Given the description of an element on the screen output the (x, y) to click on. 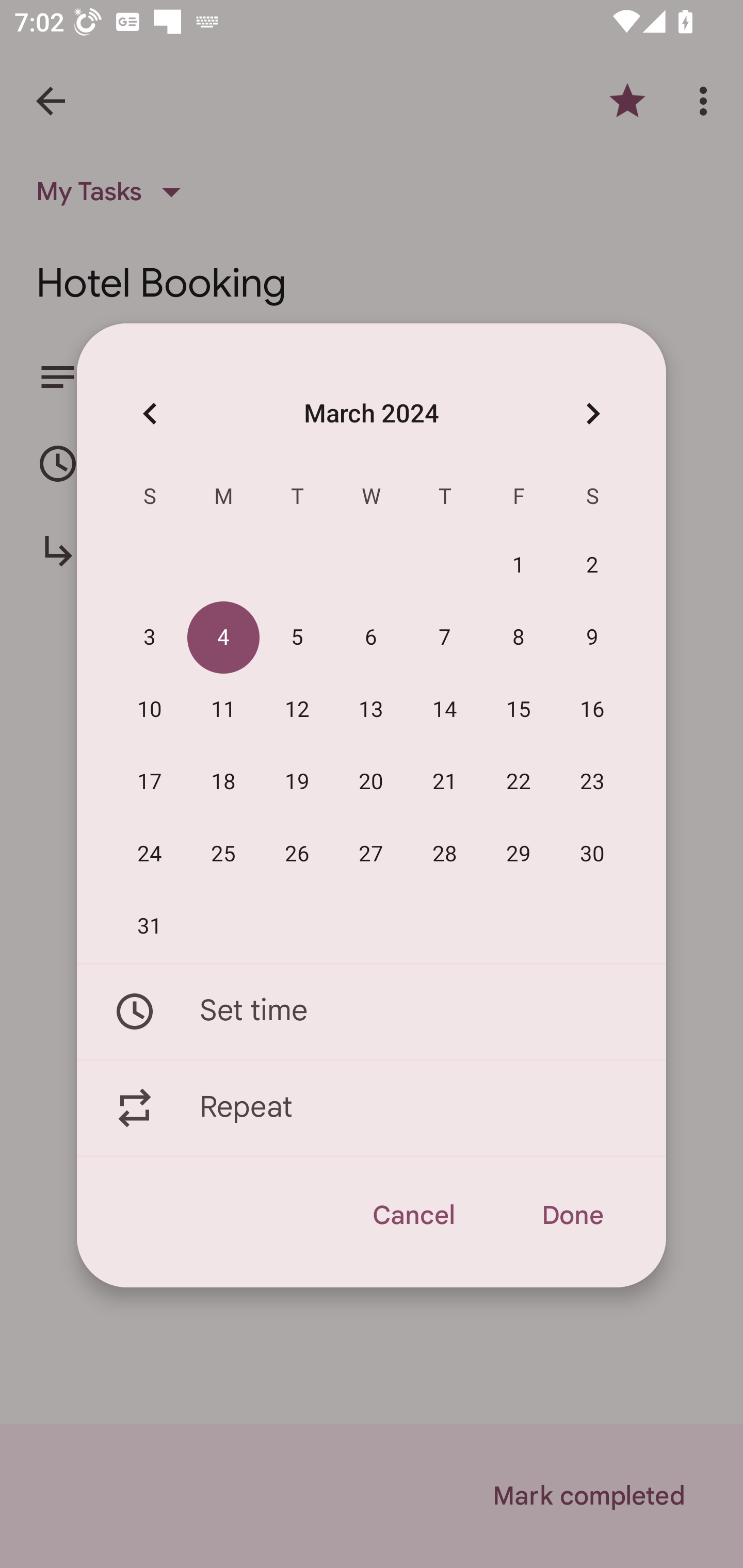
Previous month (149, 413)
Next month (592, 413)
1 01 March 2024 (518, 565)
2 02 March 2024 (592, 565)
3 03 March 2024 (149, 638)
4 04 March 2024 (223, 638)
5 05 March 2024 (297, 638)
6 06 March 2024 (370, 638)
7 07 March 2024 (444, 638)
8 08 March 2024 (518, 638)
9 09 March 2024 (592, 638)
10 10 March 2024 (149, 710)
11 11 March 2024 (223, 710)
12 12 March 2024 (297, 710)
13 13 March 2024 (370, 710)
14 14 March 2024 (444, 710)
15 15 March 2024 (518, 710)
16 16 March 2024 (592, 710)
17 17 March 2024 (149, 782)
18 18 March 2024 (223, 782)
19 19 March 2024 (297, 782)
20 20 March 2024 (370, 782)
21 21 March 2024 (444, 782)
22 22 March 2024 (518, 782)
23 23 March 2024 (592, 782)
24 24 March 2024 (149, 854)
25 25 March 2024 (223, 854)
26 26 March 2024 (297, 854)
27 27 March 2024 (370, 854)
28 28 March 2024 (444, 854)
29 29 March 2024 (518, 854)
30 30 March 2024 (592, 854)
31 31 March 2024 (149, 926)
Set time (371, 1011)
Repeat (371, 1108)
Cancel (412, 1215)
Done (571, 1215)
